Given the description of an element on the screen output the (x, y) to click on. 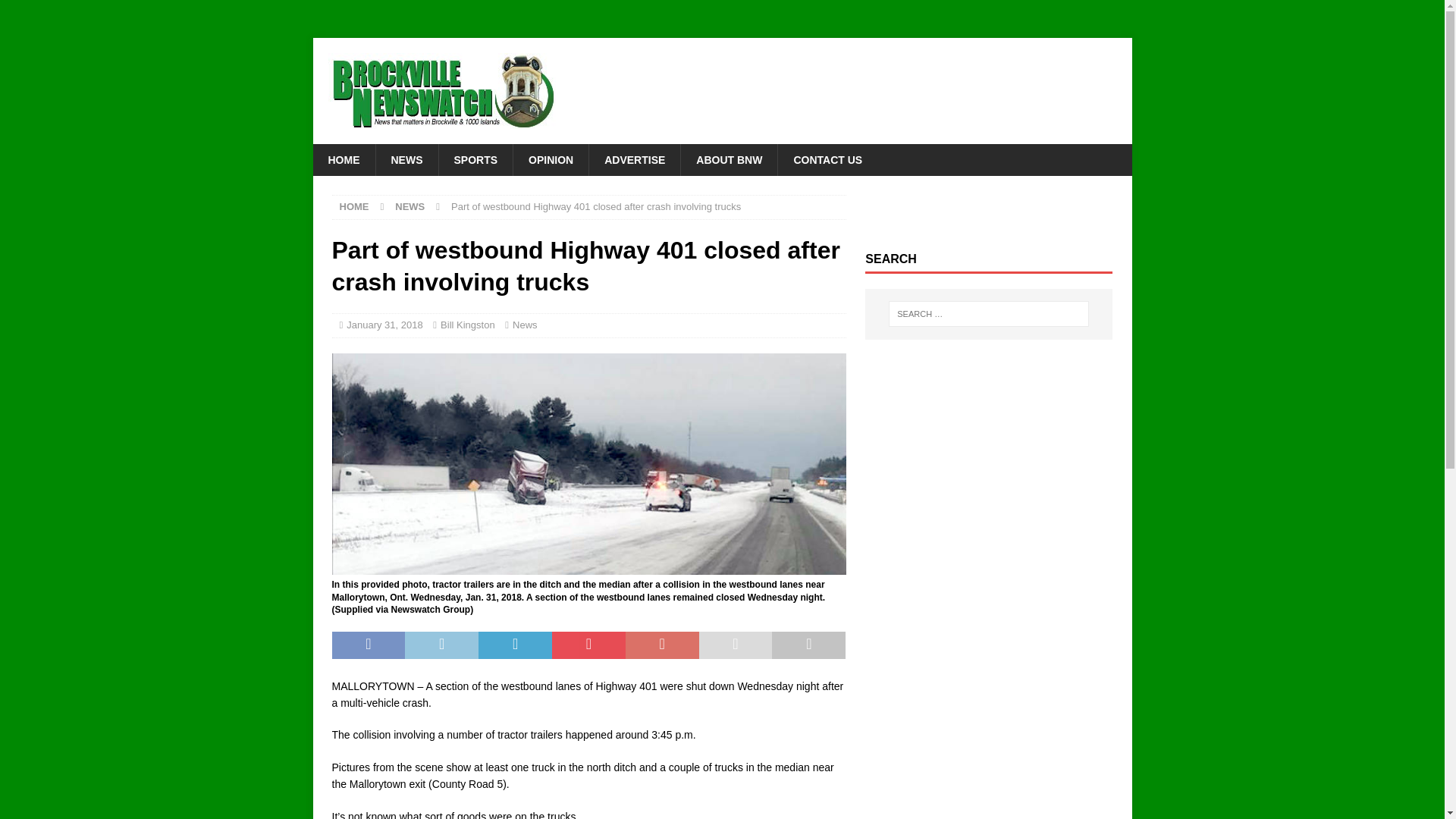
News (524, 324)
ADVERTISE (633, 160)
HOME (354, 206)
SPORTS (475, 160)
CONTACT US (827, 160)
HOME (343, 160)
ABOUT BNW (728, 160)
NEWS (406, 160)
NEWS (409, 206)
OPINION (550, 160)
